Given the description of an element on the screen output the (x, y) to click on. 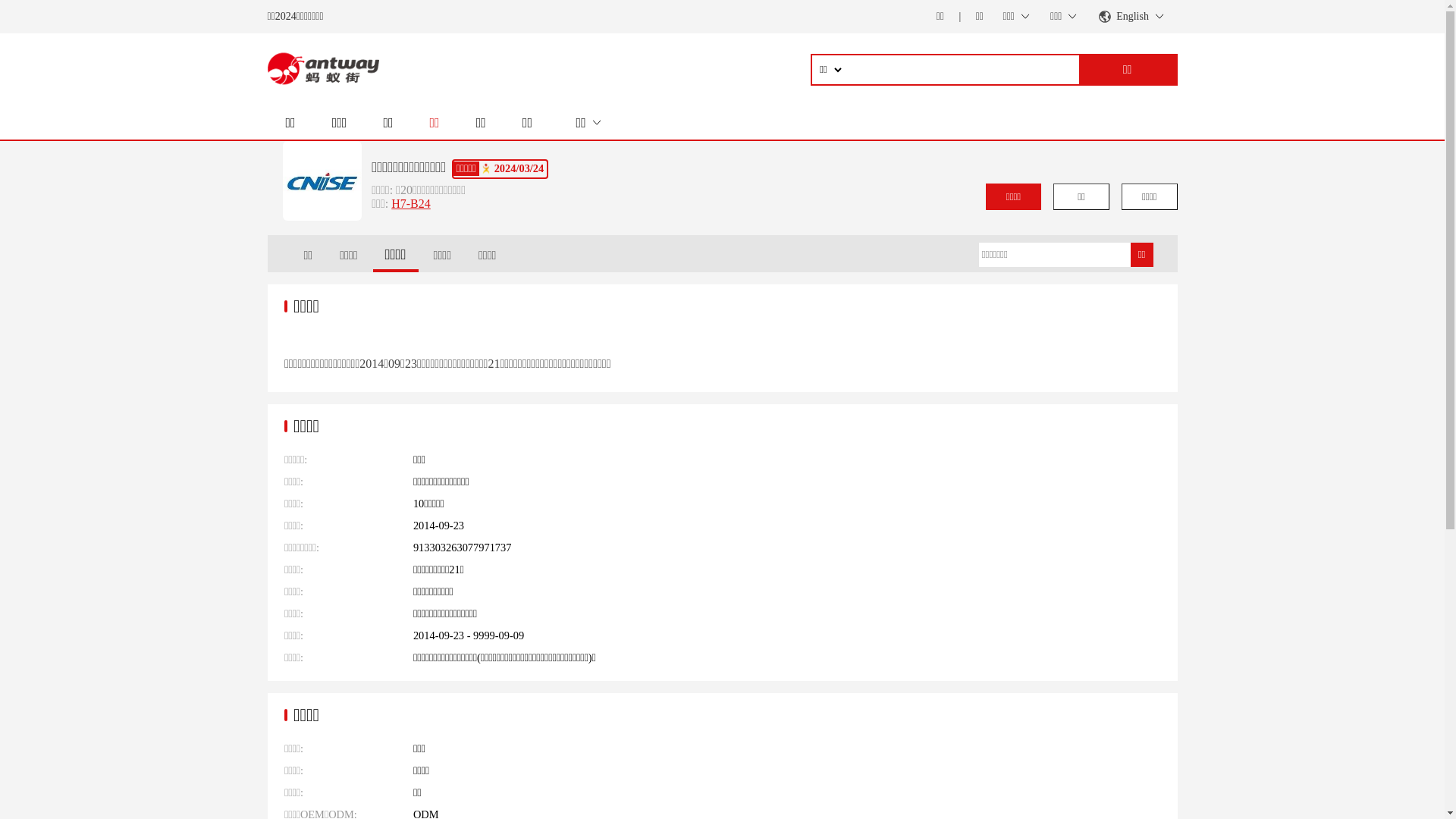
H7-B24 Element type: text (410, 203)
